Given the description of an element on the screen output the (x, y) to click on. 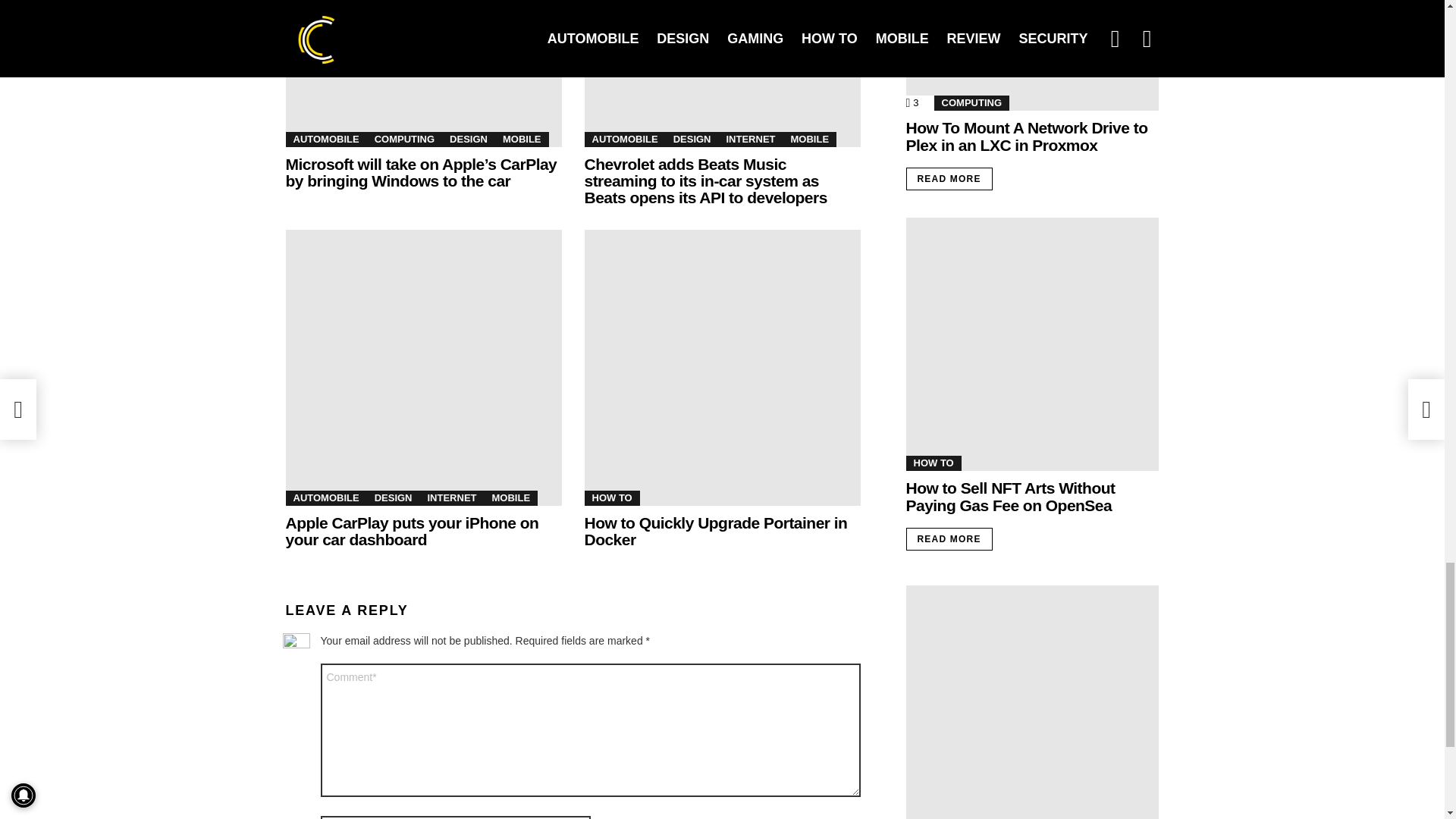
AUTOMOBILE (325, 139)
Apple CarPlay puts your iPhone on your car dashboard (422, 368)
MOBILE (521, 139)
COMPUTING (404, 139)
How to Quickly Upgrade Portainer in Docker (721, 368)
DESIGN (468, 139)
